Given the description of an element on the screen output the (x, y) to click on. 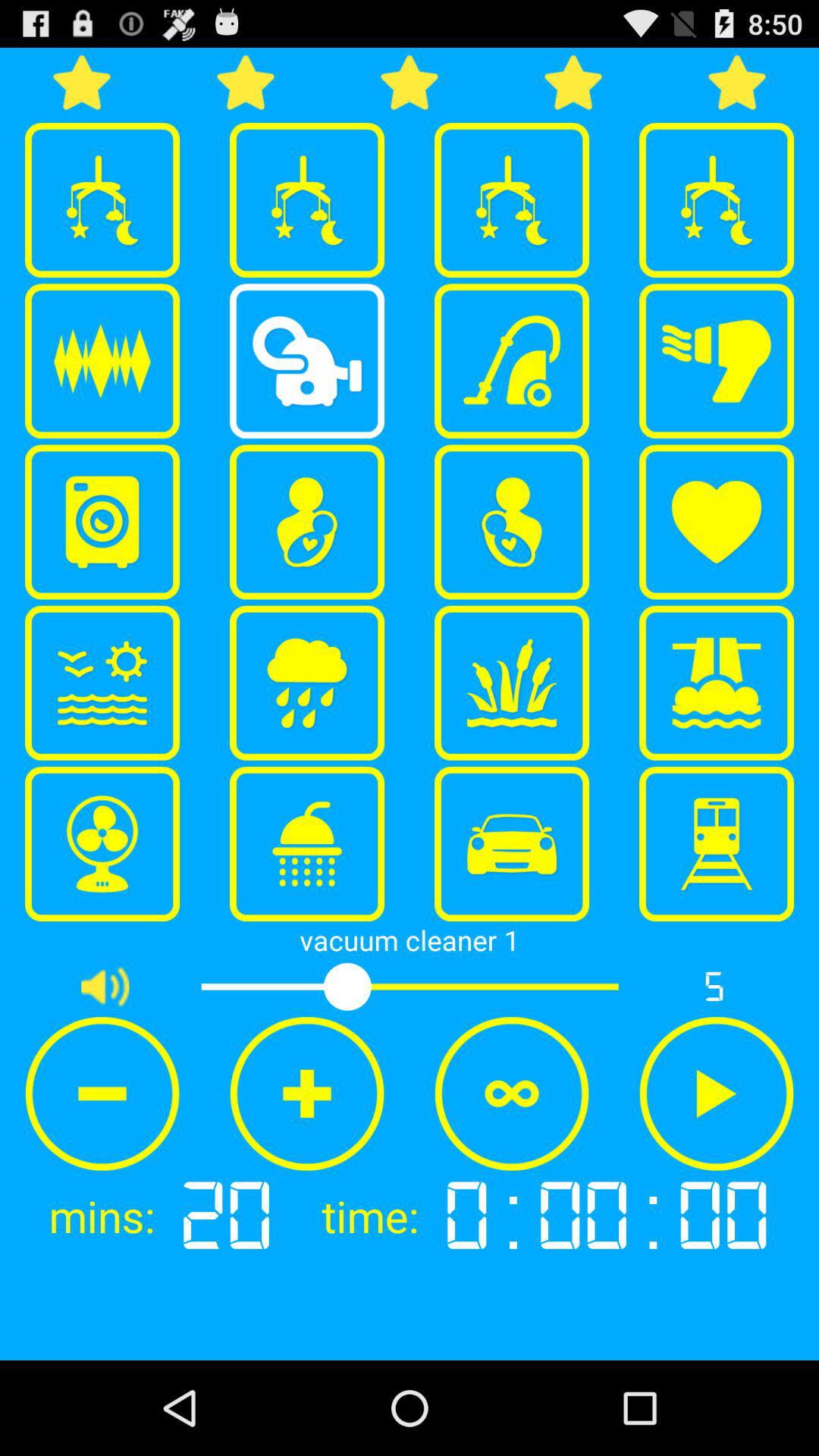
turn on item above 20 app (306, 1093)
